Given the description of an element on the screen output the (x, y) to click on. 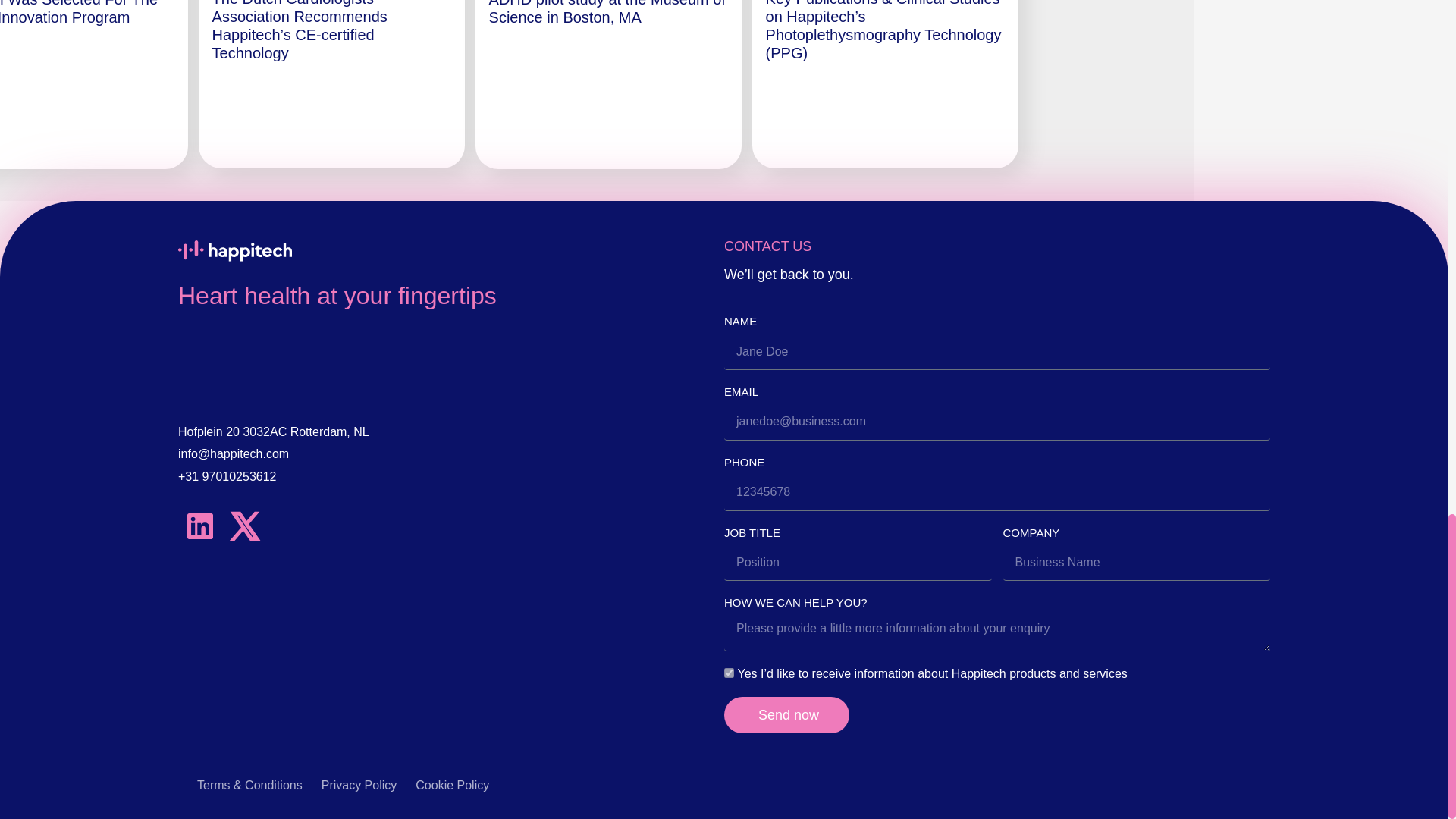
on (728, 673)
